Given the description of an element on the screen output the (x, y) to click on. 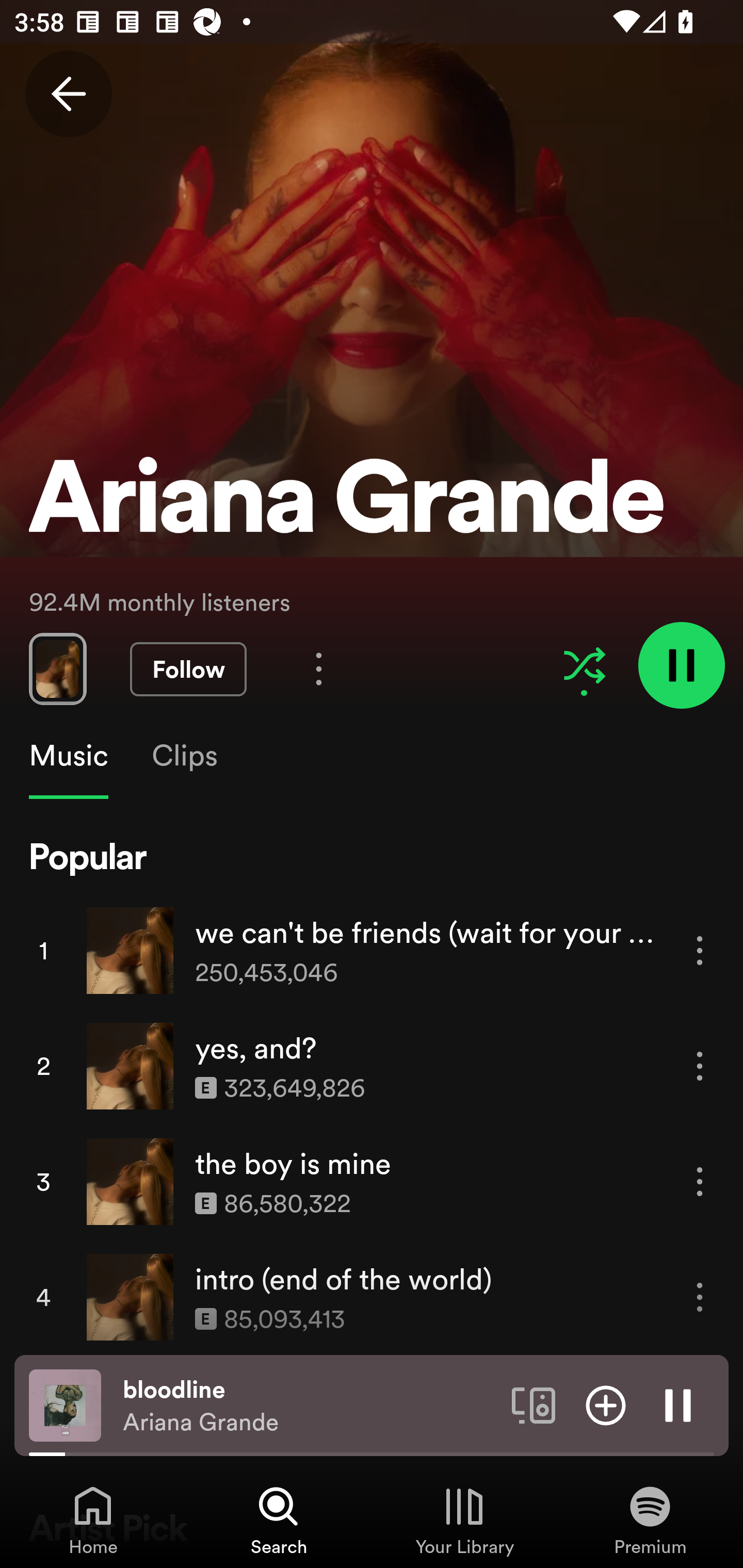
Back (68, 93)
Pause artist (681, 664)
Disable shuffle for this artist (583, 665)
Swipe through previews of tracks from this artist. (57, 668)
More options for artist Ariana Grande (318, 668)
Follow (188, 669)
Clips (184, 755)
More options for song yes, and? (699, 1066)
More options for song the boy is mine (699, 1181)
More options for song intro (end of the world) (699, 1297)
bloodline Ariana Grande (309, 1405)
The cover art of the currently playing track (64, 1404)
Connect to a device. Opens the devices menu (533, 1404)
Add item (605, 1404)
Pause (677, 1404)
Home, Tab 1 of 4 Home Home (92, 1519)
Search, Tab 2 of 4 Search Search (278, 1519)
Your Library, Tab 3 of 4 Your Library Your Library (464, 1519)
Premium, Tab 4 of 4 Premium Premium (650, 1519)
